Given the description of an element on the screen output the (x, y) to click on. 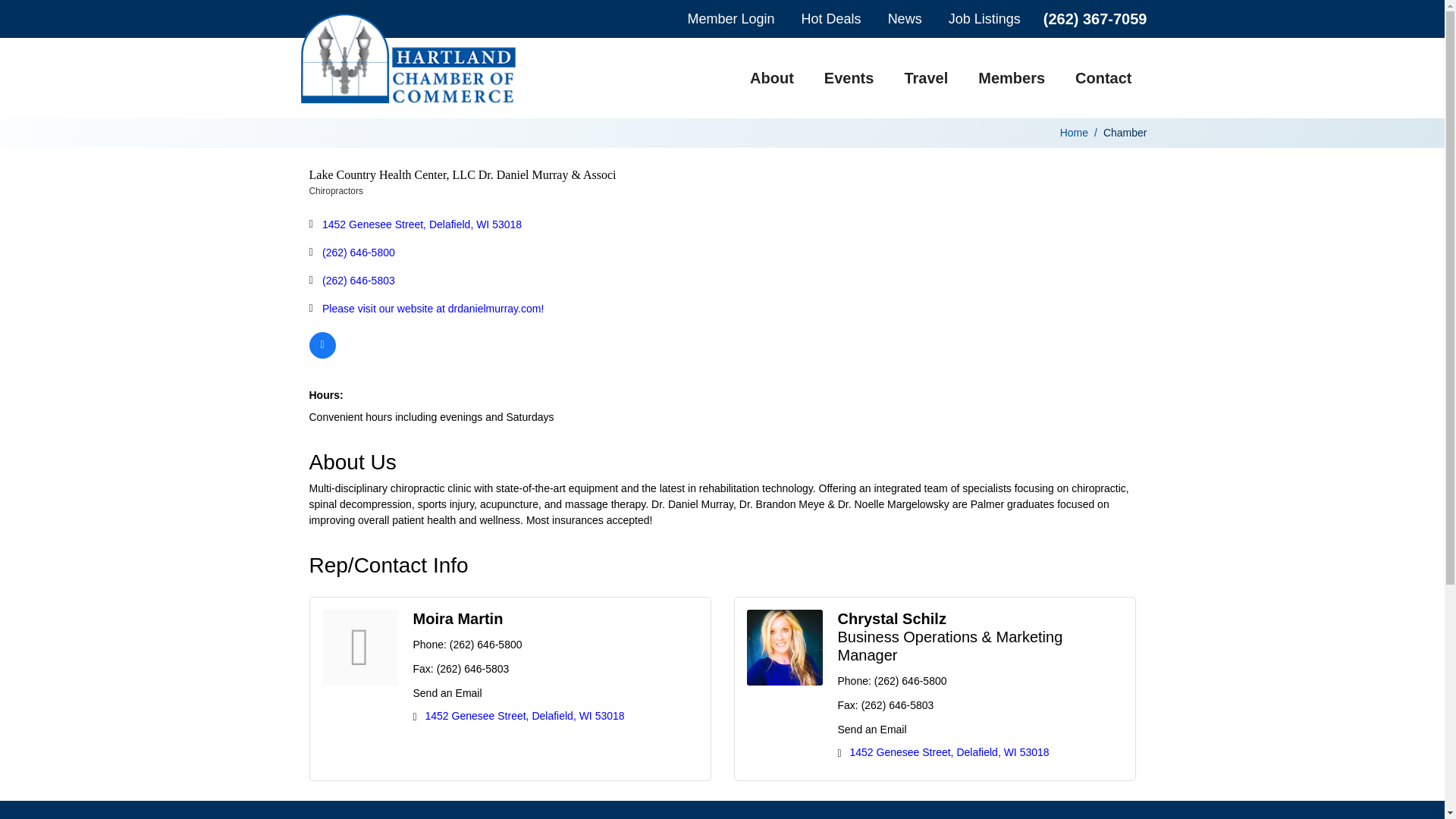
Contact (1103, 77)
Member Login (730, 17)
News (904, 17)
Job Listings (984, 17)
About (772, 77)
Travel (925, 77)
View on Facebook (322, 354)
Events (849, 77)
Members (1010, 77)
Hot Deals (831, 17)
